Given the description of an element on the screen output the (x, y) to click on. 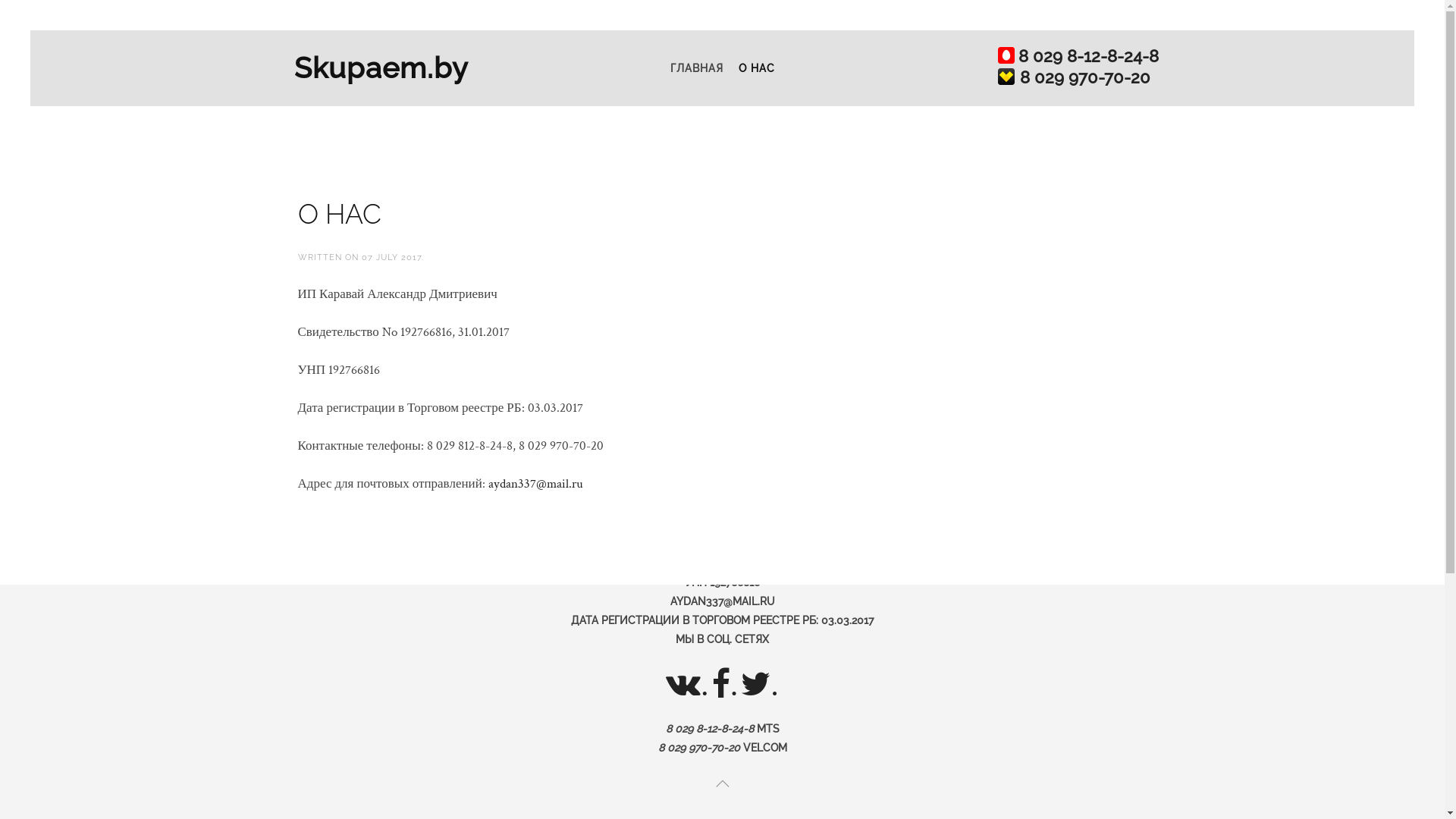
8 029 970-70-20 Element type: text (1084, 77)
8 029 8-12-8-24-8 Element type: text (1087, 55)
aydan337@mail.ru Element type: text (535, 483)
. Element type: text (759, 684)
. Element type: text (725, 684)
Skupaem.by Element type: text (386, 68)
. Element type: text (687, 684)
